Given the description of an element on the screen output the (x, y) to click on. 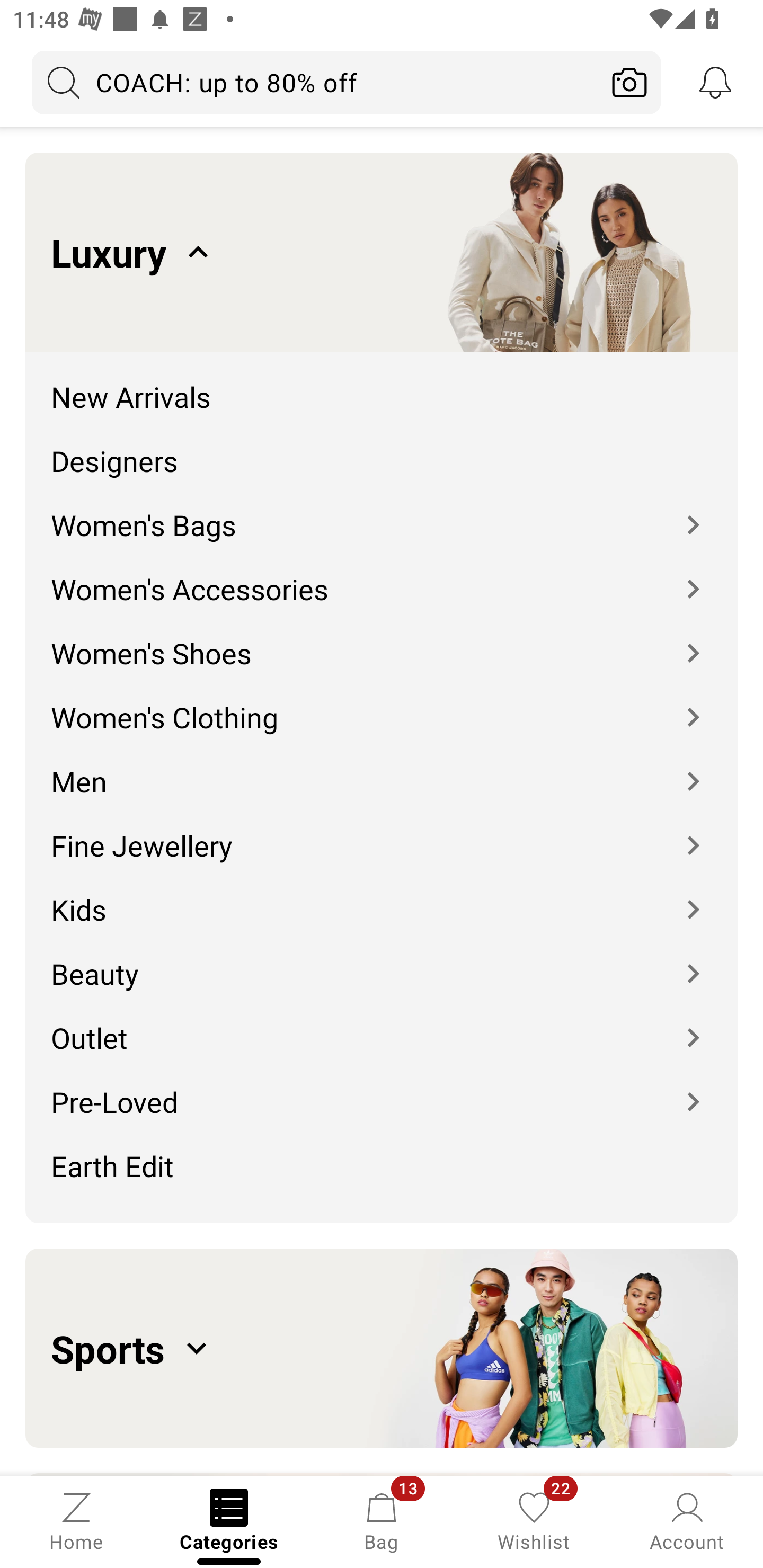
COACH: up to 80% off (314, 82)
Luxury (381, 251)
New Arrivals (381, 383)
Designers (381, 447)
Women's Bags (381, 511)
Women's Accessories (381, 576)
Women's Shoes (381, 640)
Women's Clothing (381, 704)
Men (381, 767)
Fine Jewellery (381, 831)
Kids (381, 895)
Beauty (381, 960)
Outlet (381, 1024)
Pre-Loved (381, 1088)
Earth Edit (381, 1172)
Sports (381, 1347)
Home (76, 1519)
Bag, 13 new notifications Bag (381, 1519)
Wishlist, 22 new notifications Wishlist (533, 1519)
Account (686, 1519)
